Given the description of an element on the screen output the (x, y) to click on. 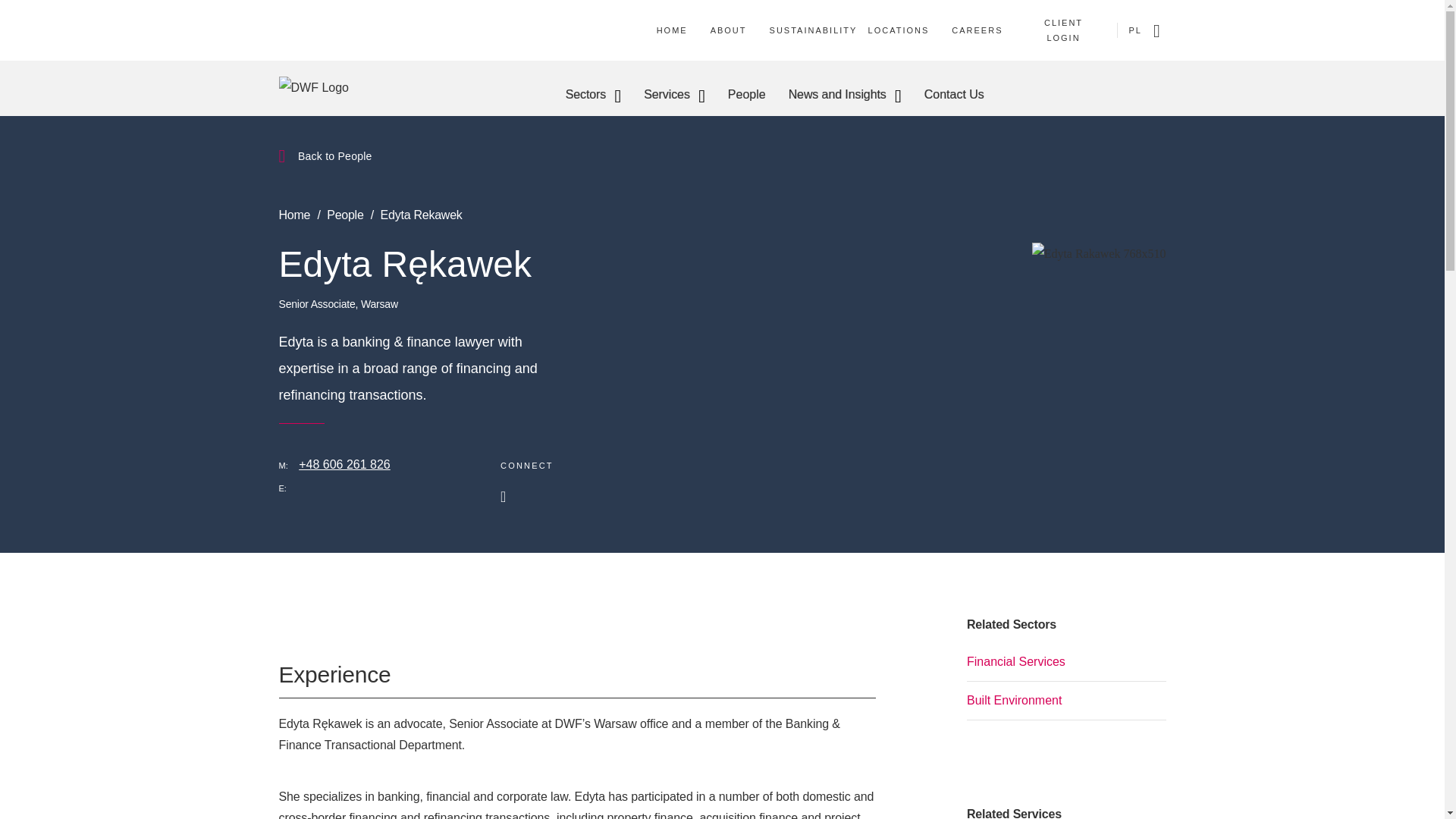
ABOUT (728, 30)
CLIENT LOGIN (1063, 30)
SUSTAINABILITY (813, 30)
HOME (671, 30)
LOCATIONS (898, 30)
CAREERS (977, 30)
